Given the description of an element on the screen output the (x, y) to click on. 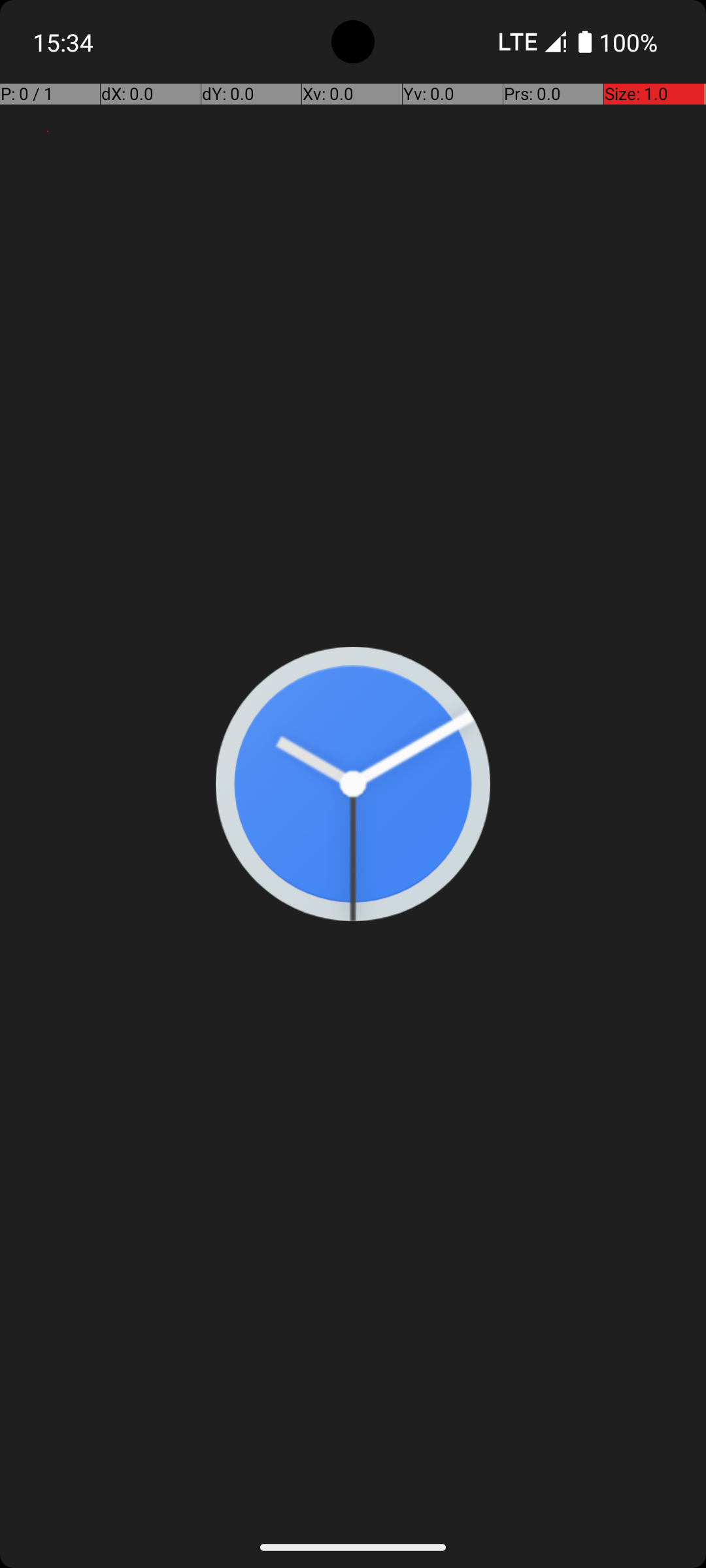
24130:30:16 Element type: android.widget.TextView (183, 210)
Compose Element type: android.widget.TextView (435, 849)
